Given the description of an element on the screen output the (x, y) to click on. 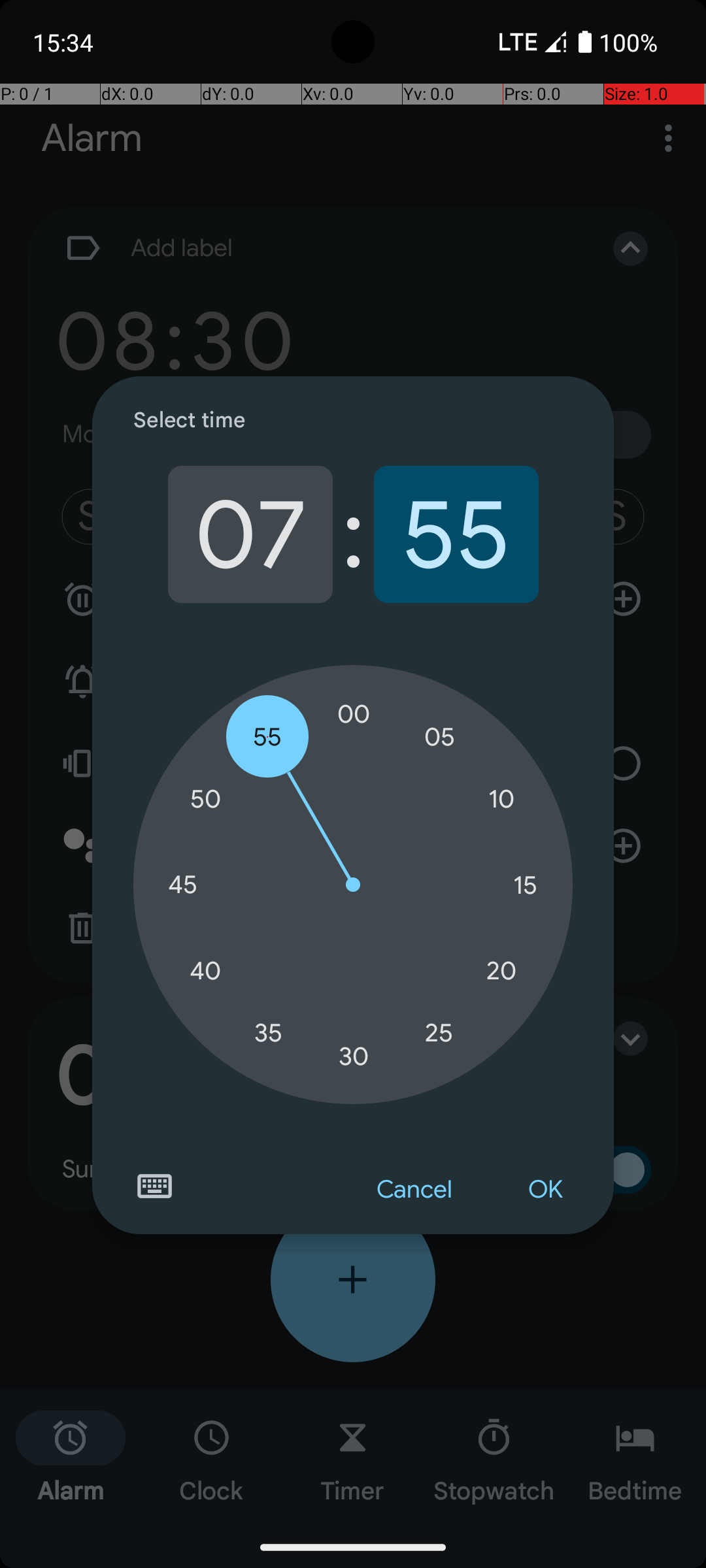
07 Element type: android.view.View (250, 534)
